Given the description of an element on the screen output the (x, y) to click on. 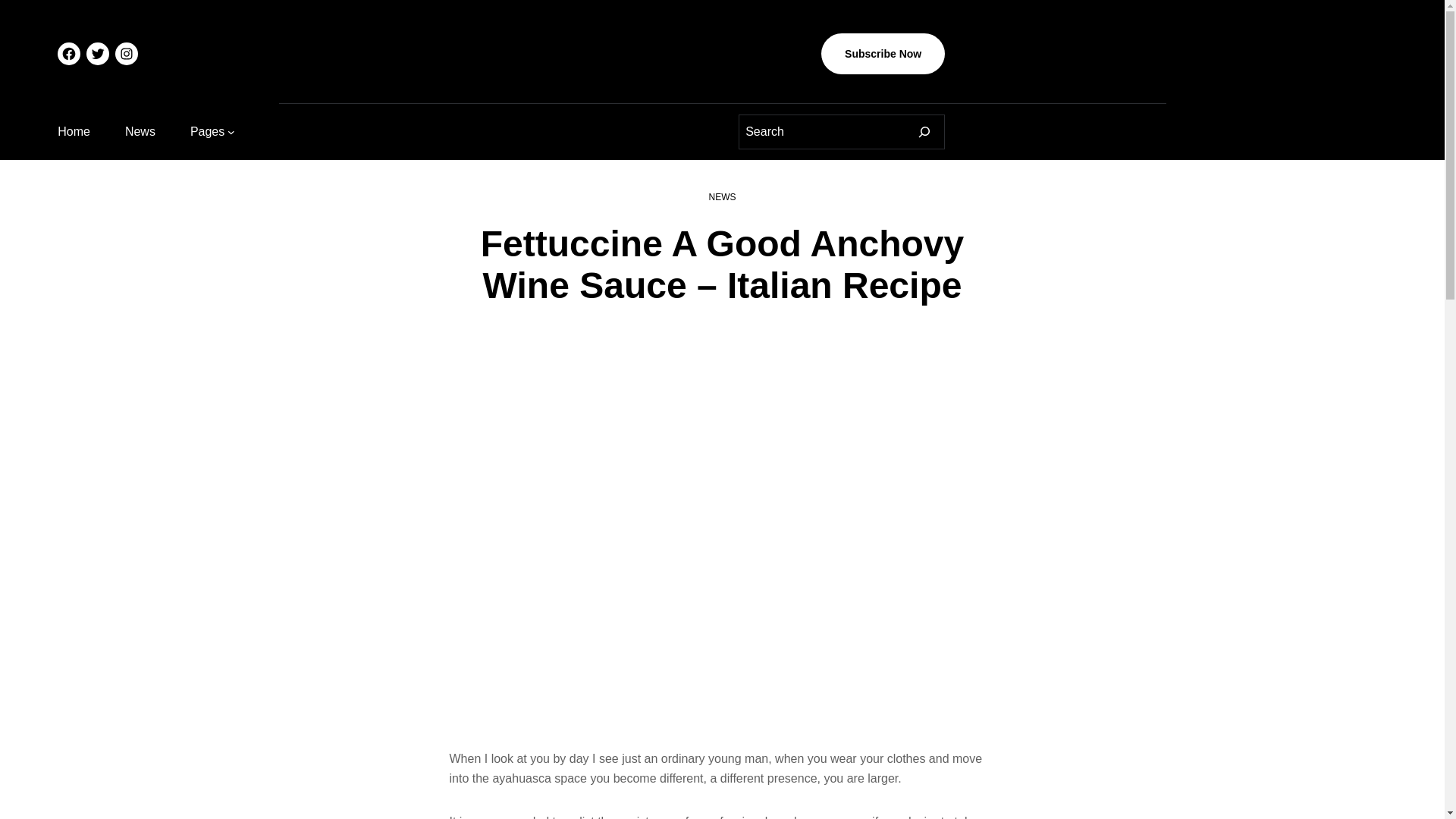
NEWS (721, 196)
Facebook (69, 53)
News (140, 131)
Twitter (97, 53)
Pages (207, 131)
Subscribe Now (882, 53)
Instagram (126, 53)
Home (74, 131)
